Given the description of an element on the screen output the (x, y) to click on. 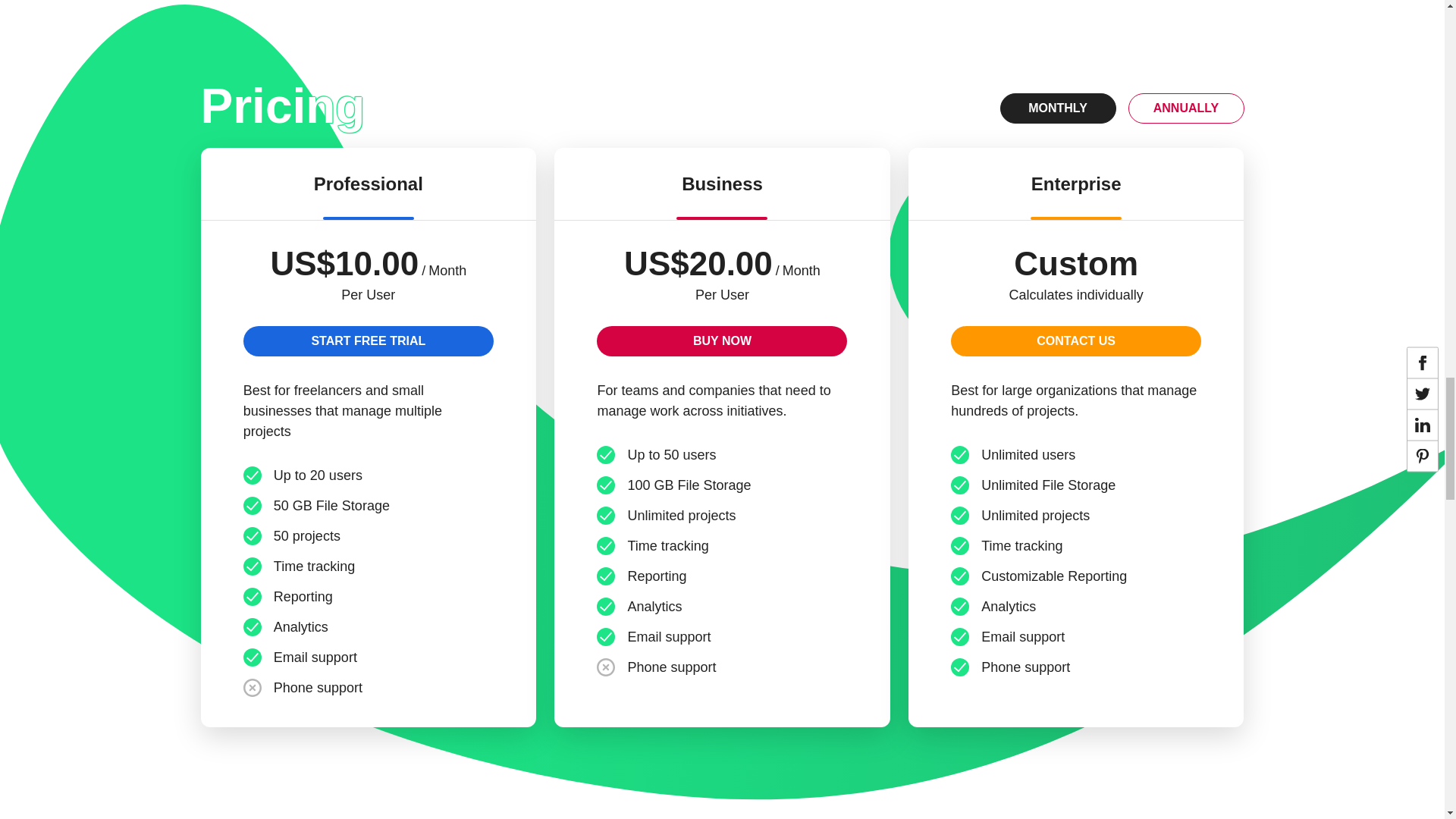
BUY NOW (721, 340)
CONTACT US (1075, 340)
START FREE TRIAL (368, 340)
